Given the description of an element on the screen output the (x, y) to click on. 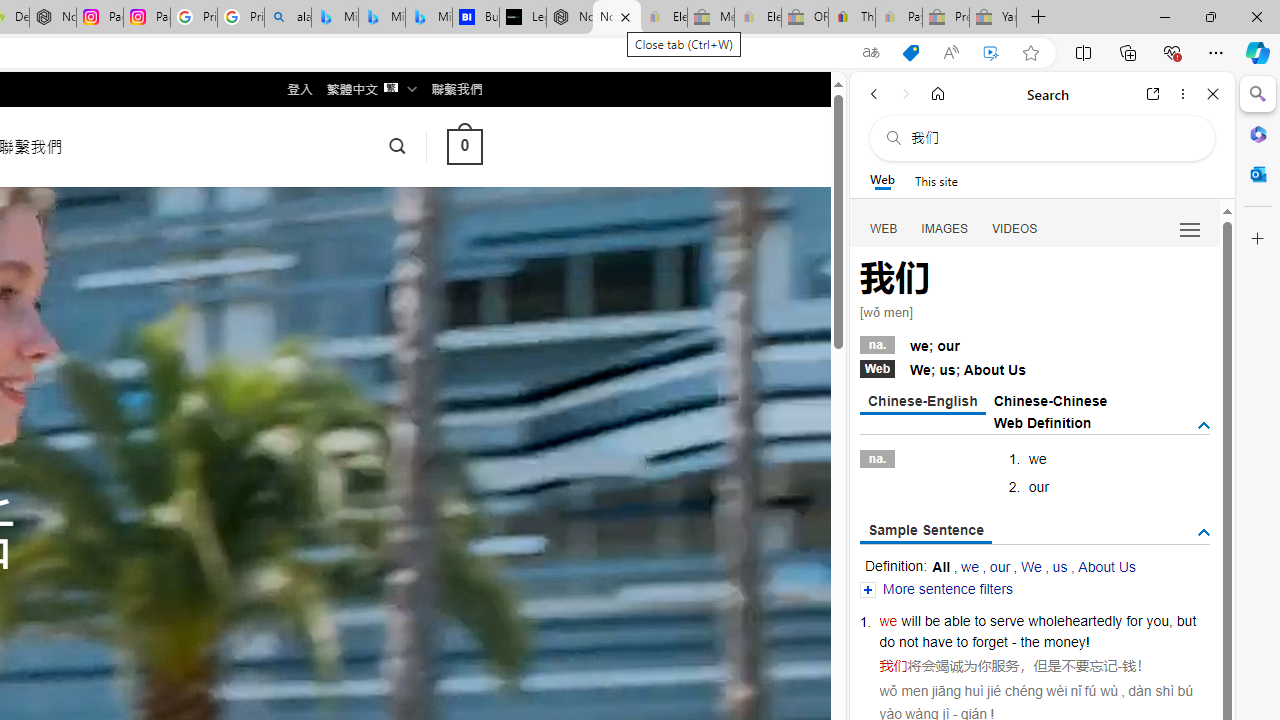
 0  (464, 146)
na.we; our (1034, 343)
Microsoft Bing Travel - Shangri-La Hotel Bangkok (428, 17)
WebWe; us; About Us (1034, 367)
, (1170, 620)
